Given the description of an element on the screen output the (x, y) to click on. 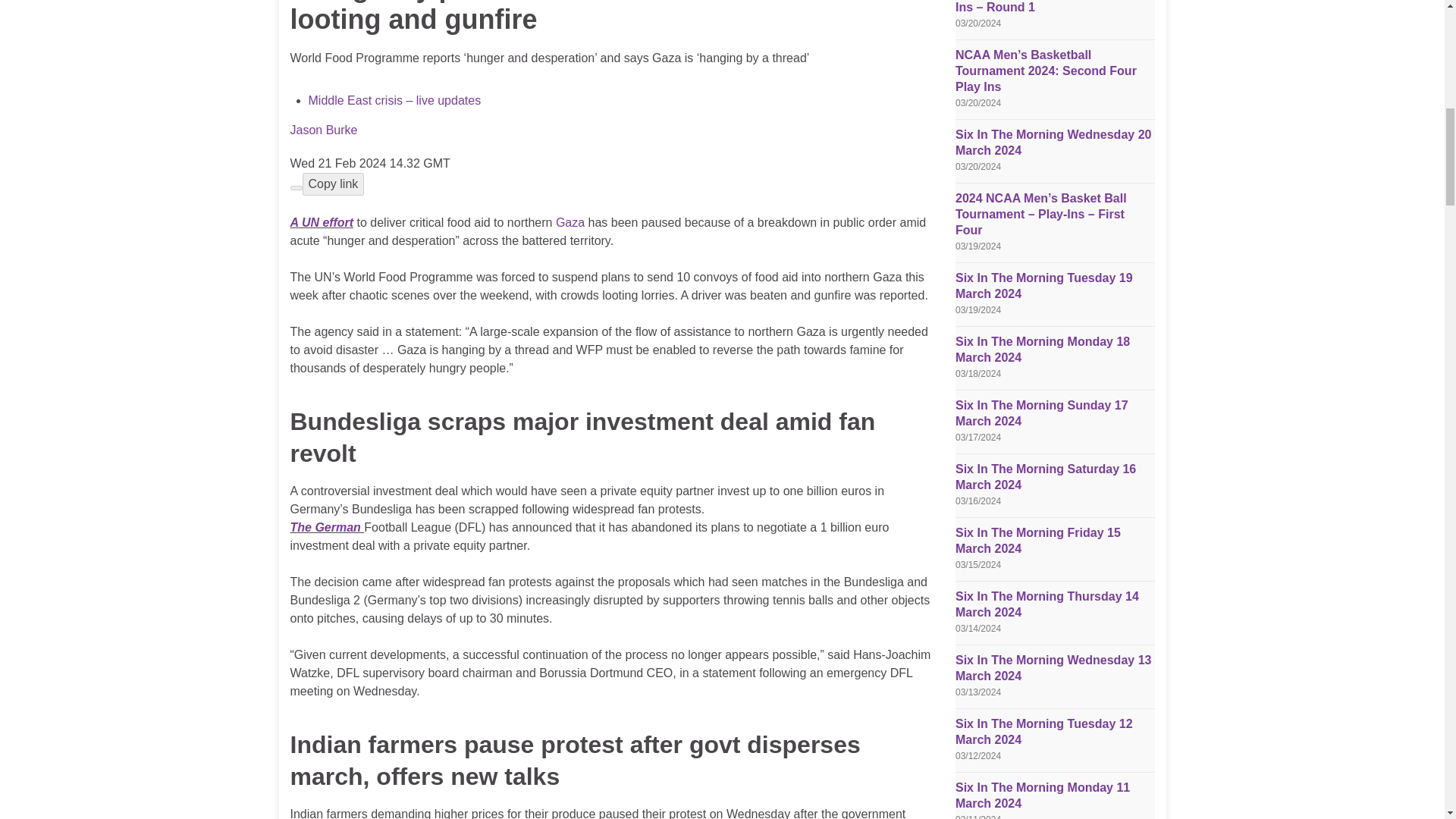
Copy link (332, 183)
A UN effort (321, 222)
Gaza (570, 222)
The German  (326, 526)
Jason Burke (322, 129)
